Given the description of an element on the screen output the (x, y) to click on. 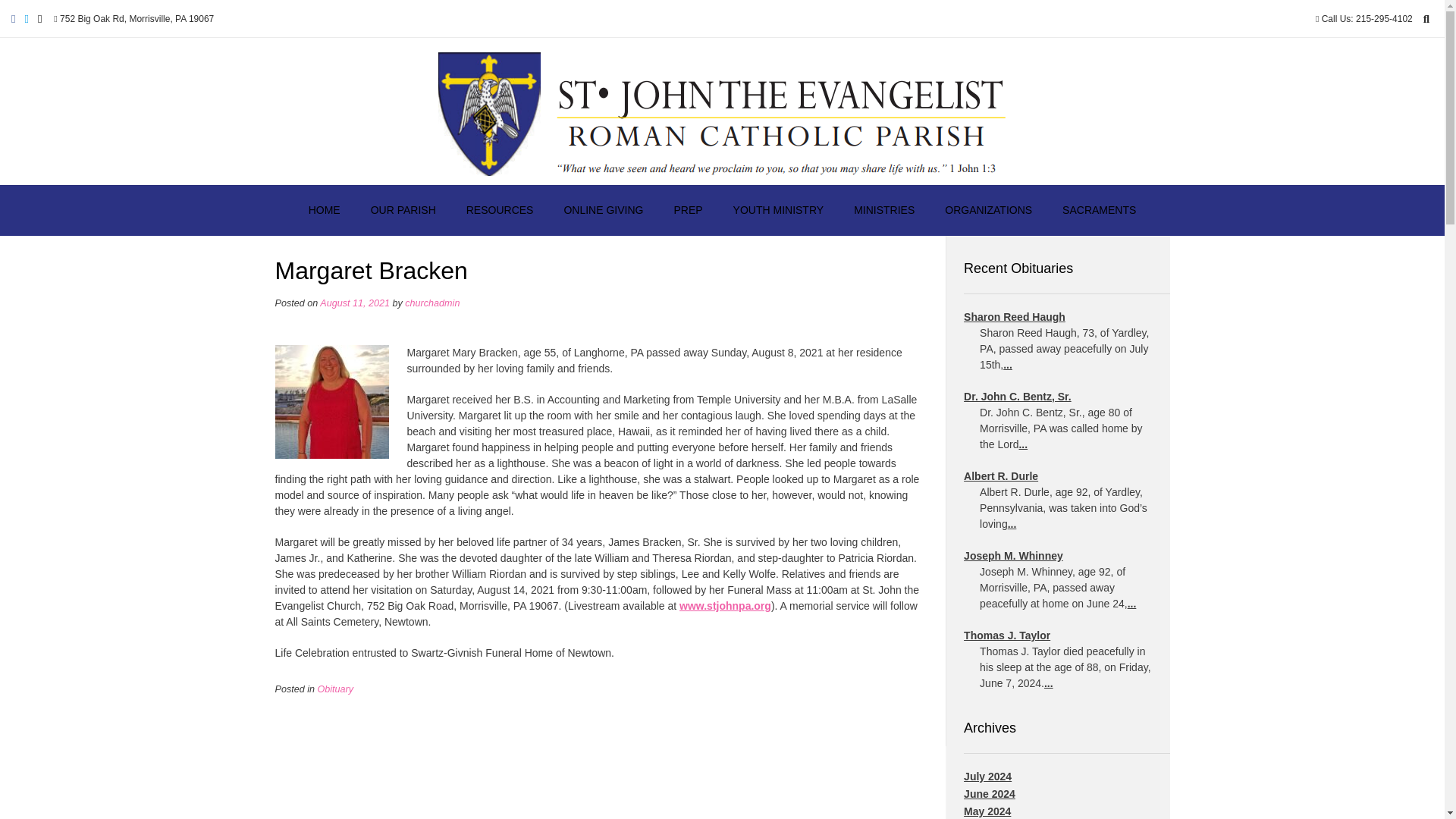
Joseph M. Whinney (1012, 555)
St. John the Evangelist Parish (721, 111)
Thomas J. Taylor (1006, 635)
Sharon Reed Haugh (1014, 316)
Dr. John C. Bentz, Sr. (1017, 396)
RESOURCES (499, 210)
OUR PARISH (403, 210)
Albert R. Durle (1000, 476)
ONLINE GIVING (603, 210)
PREP (687, 210)
